Given the description of an element on the screen output the (x, y) to click on. 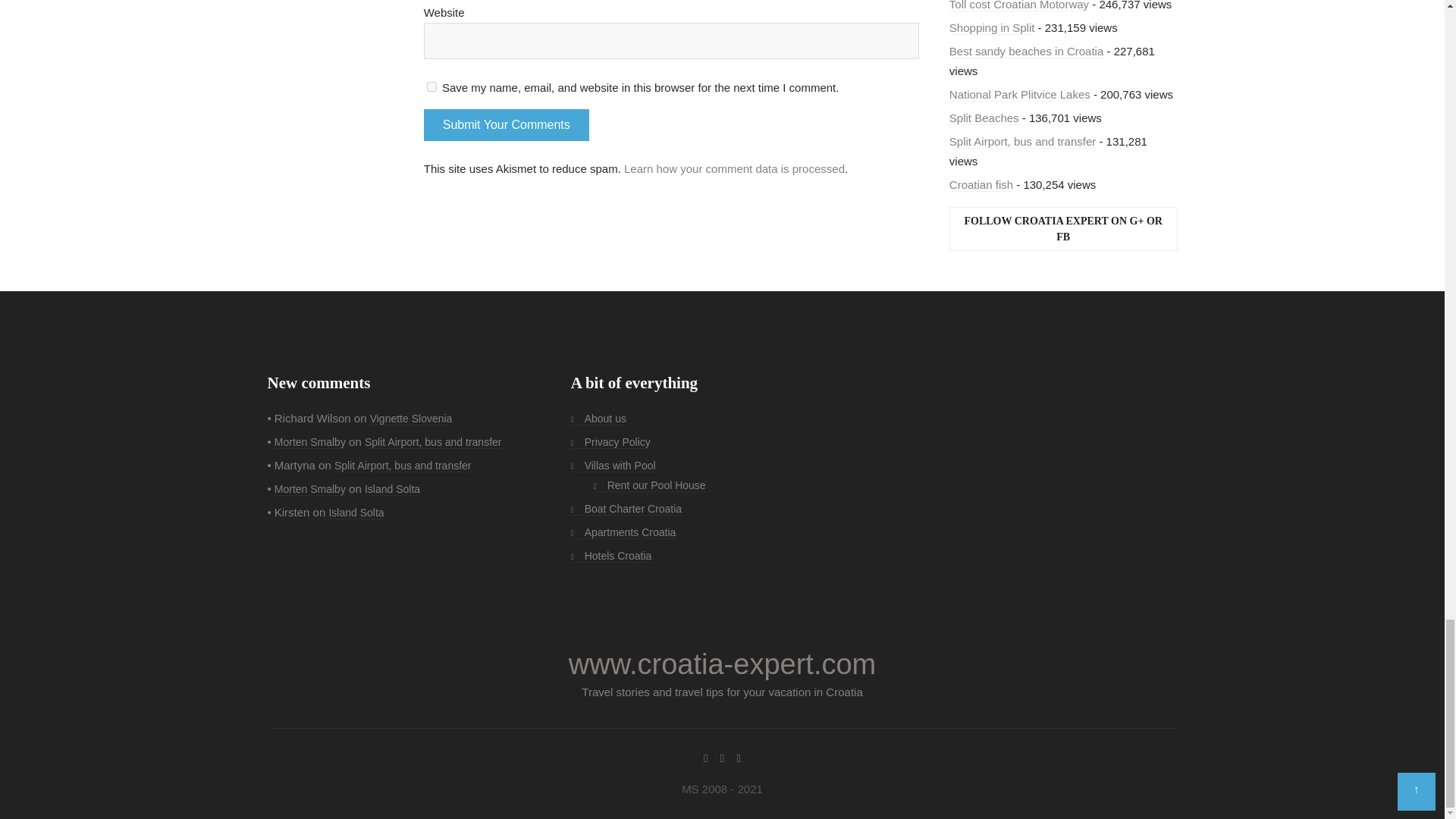
Submit Your Comments (506, 124)
yes (431, 86)
